Given the description of an element on the screen output the (x, y) to click on. 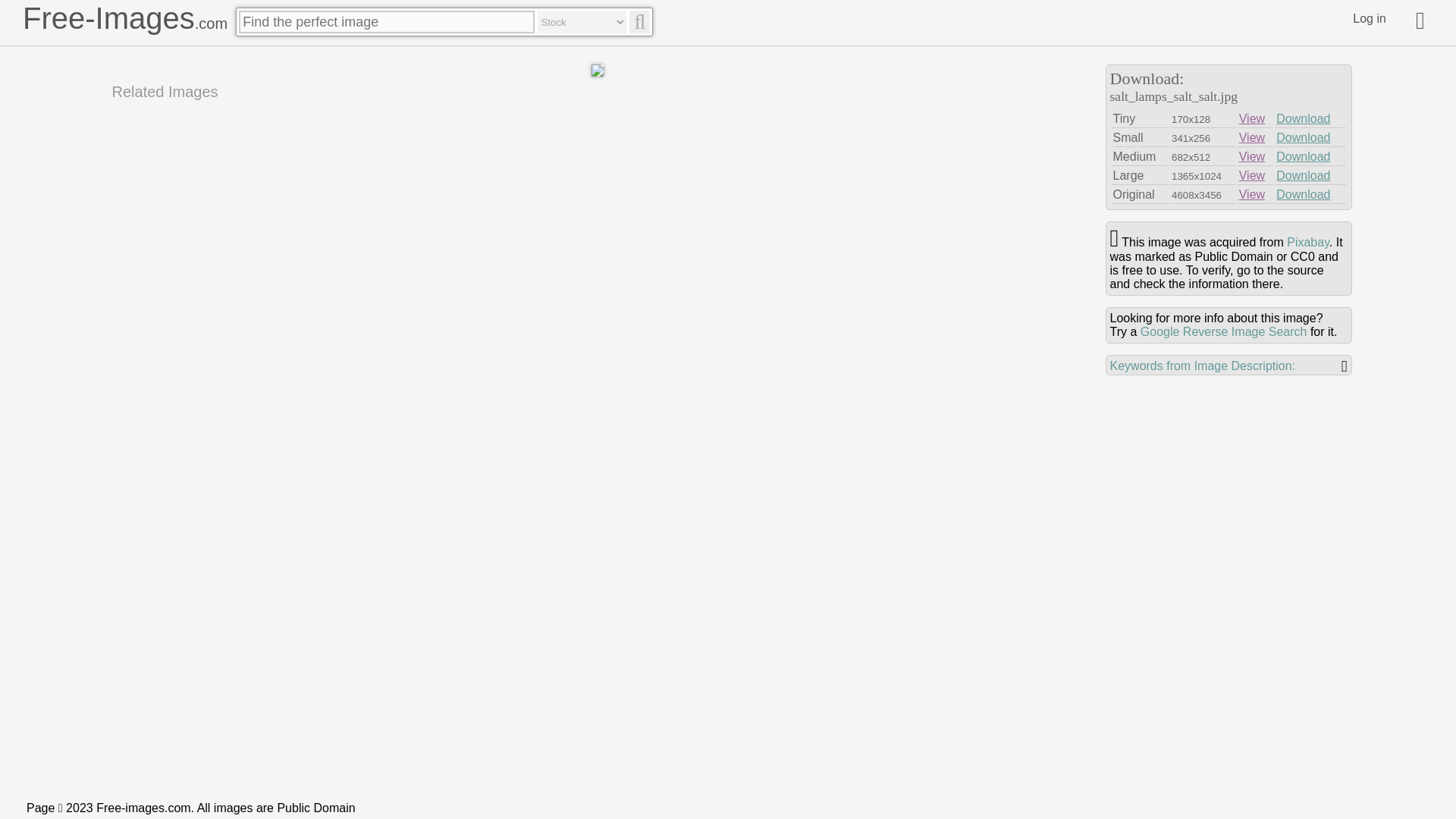
View (1252, 118)
Download (1303, 174)
Download (1303, 155)
Google Reverse Image Search (1223, 331)
Free-Images.com (125, 18)
Pixabay (1308, 241)
Download (1303, 194)
View (1252, 174)
View (1252, 155)
Download (1303, 137)
View (1252, 194)
View (1252, 137)
Download (1303, 118)
